Given the description of an element on the screen output the (x, y) to click on. 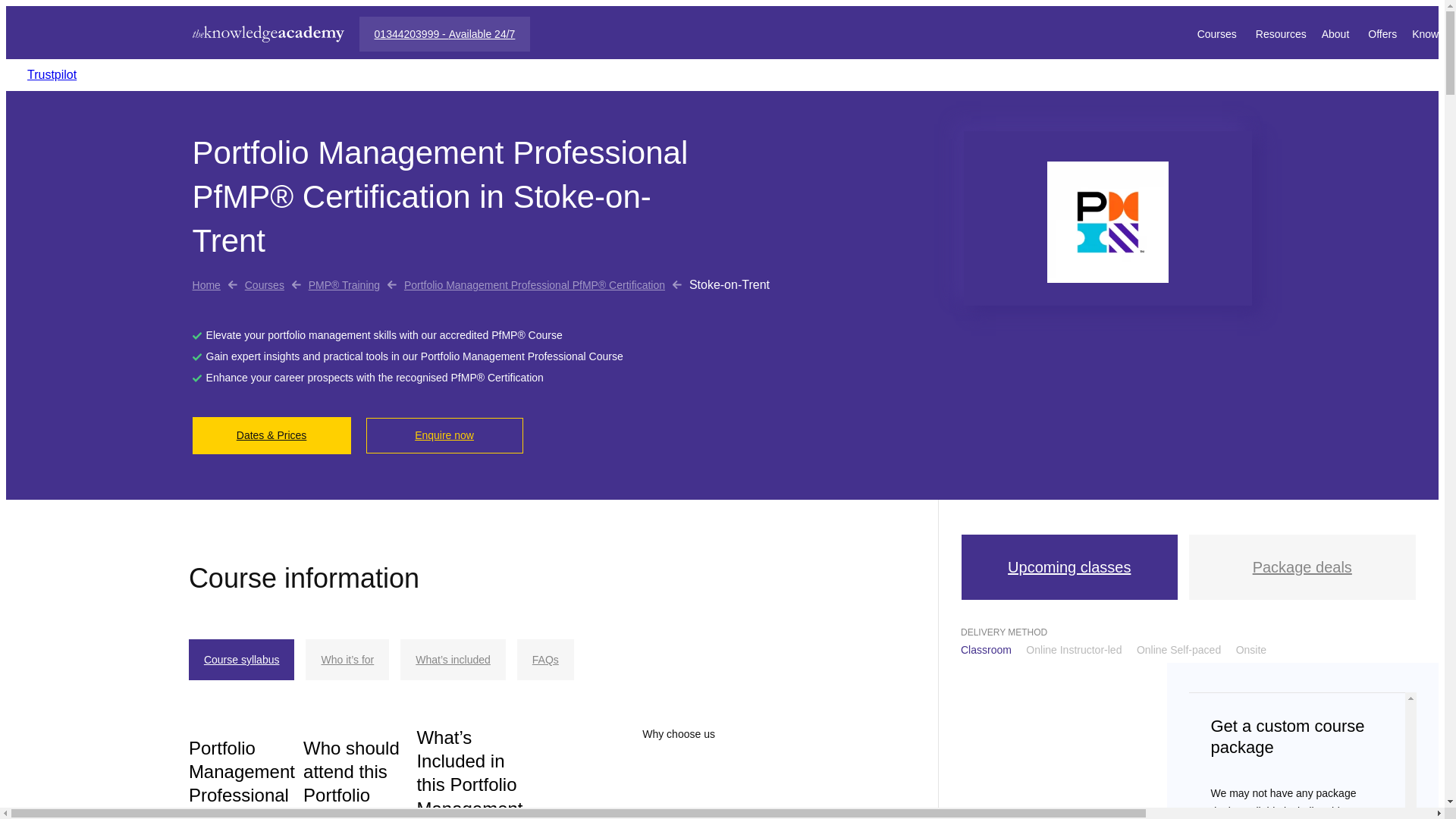
Enquire now (444, 435)
Trustpilot (52, 74)
Resources (1280, 33)
KnowledgePass (1434, 33)
FAQs (544, 659)
Courses (1218, 33)
Home (206, 285)
Course syllabus (242, 659)
About (1338, 33)
